Given the description of an element on the screen output the (x, y) to click on. 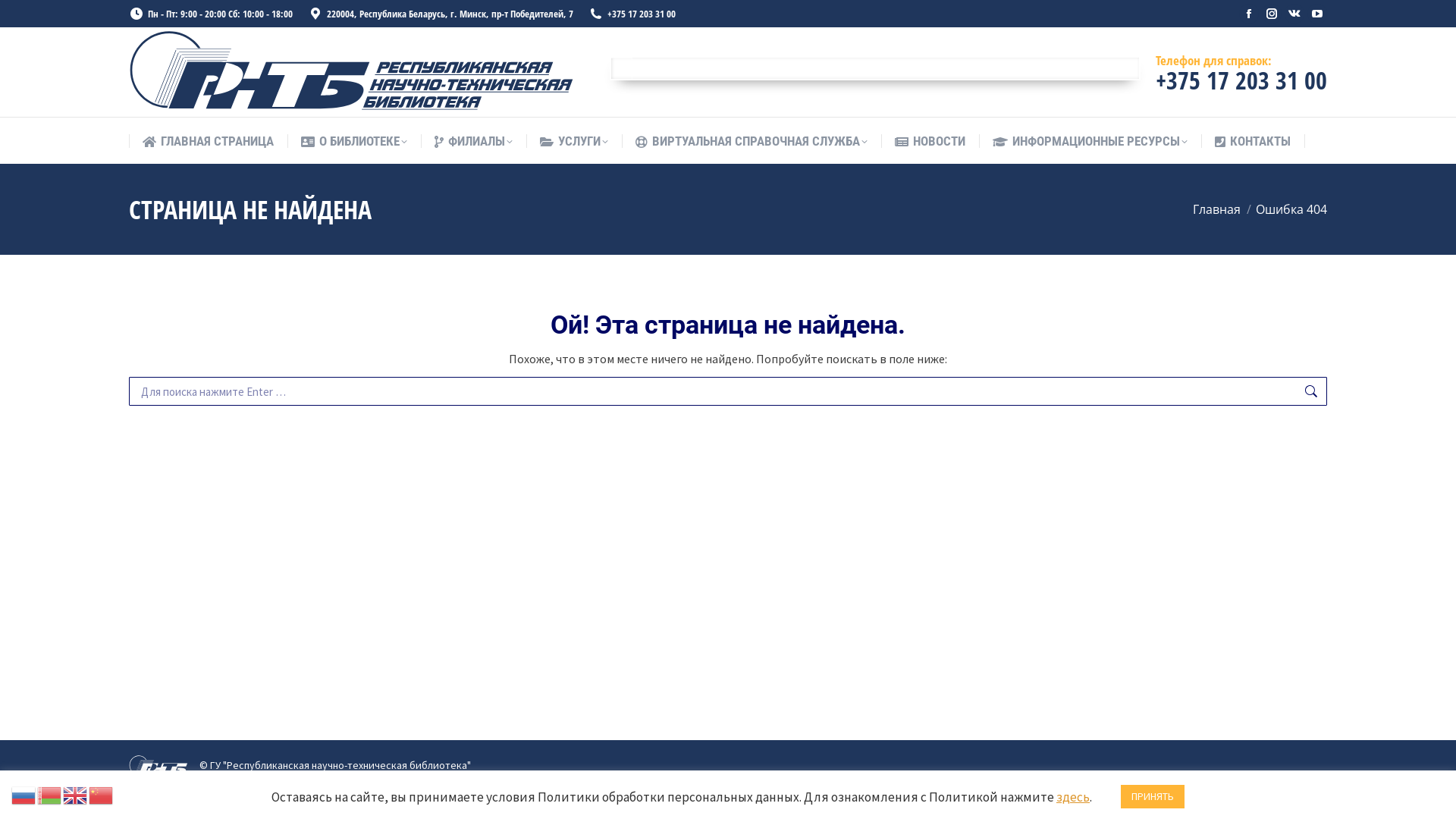
Belarusian Element type: hover (49, 793)
English Element type: hover (75, 793)
YouTube page opens in new window Element type: text (1317, 13)
Instagram page opens in new window Element type: text (1271, 13)
Russian Element type: hover (24, 793)
Chinese (Simplified) Element type: hover (101, 793)
Facebook page opens in new window Element type: text (1248, 13)
